Given the description of an element on the screen output the (x, y) to click on. 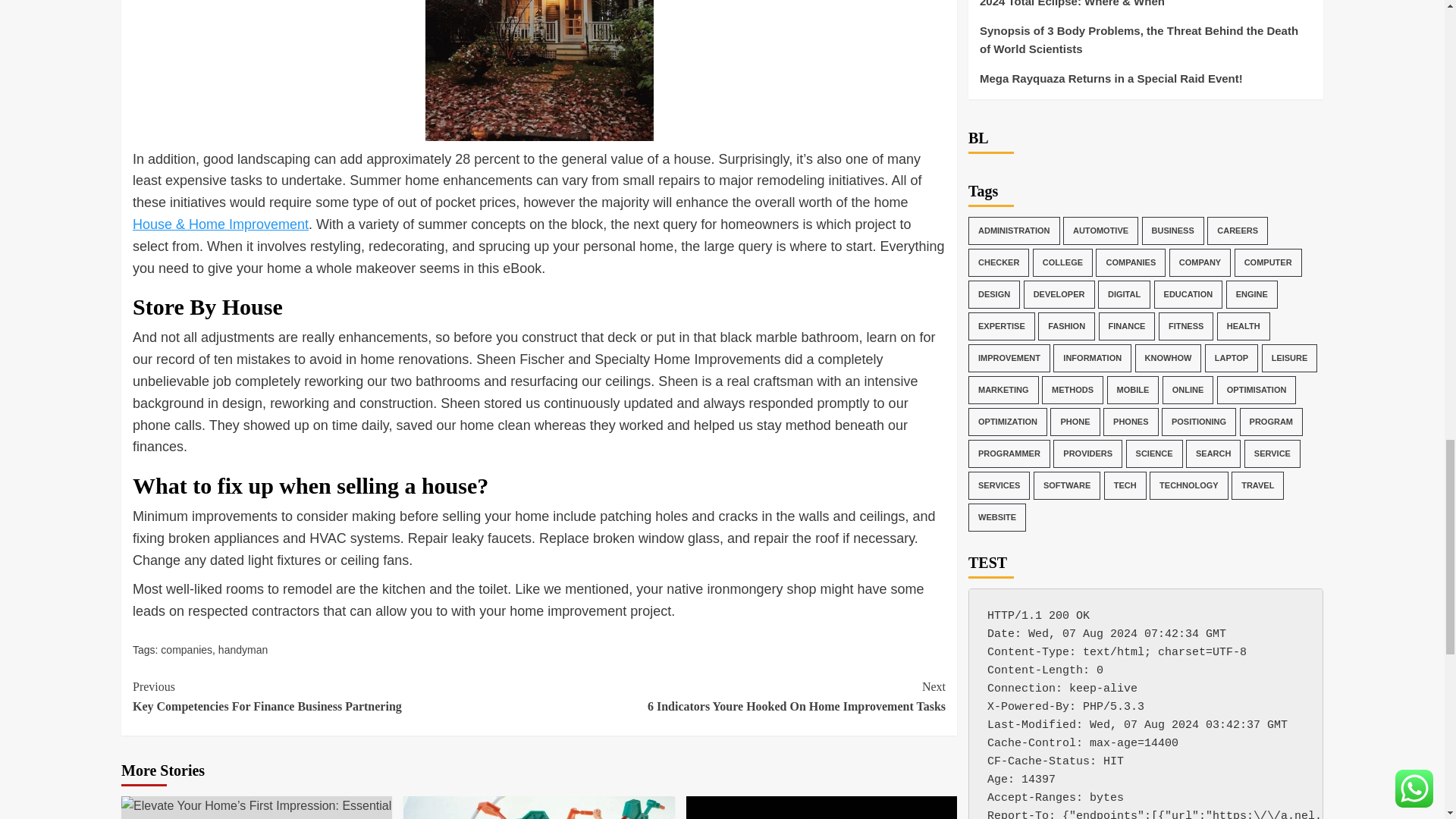
NVIDIA Corporation: Pioneering the Future of Technology (538, 807)
handyman (242, 649)
companies (335, 696)
